Given the description of an element on the screen output the (x, y) to click on. 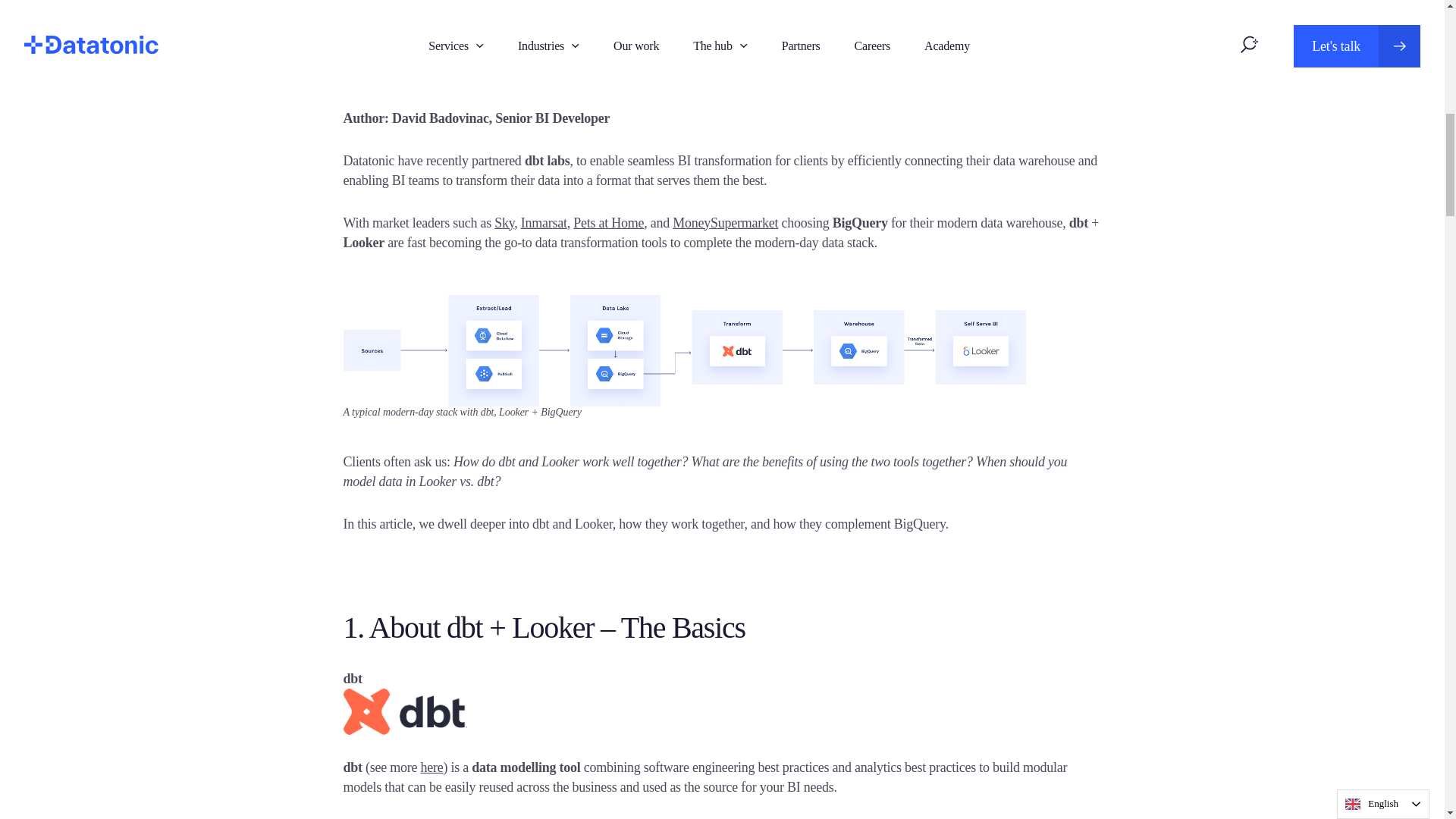
MoneySupermarket (724, 222)
Inmarsat (544, 222)
Sky (504, 222)
Pets at Home (608, 222)
here (431, 767)
